Given the description of an element on the screen output the (x, y) to click on. 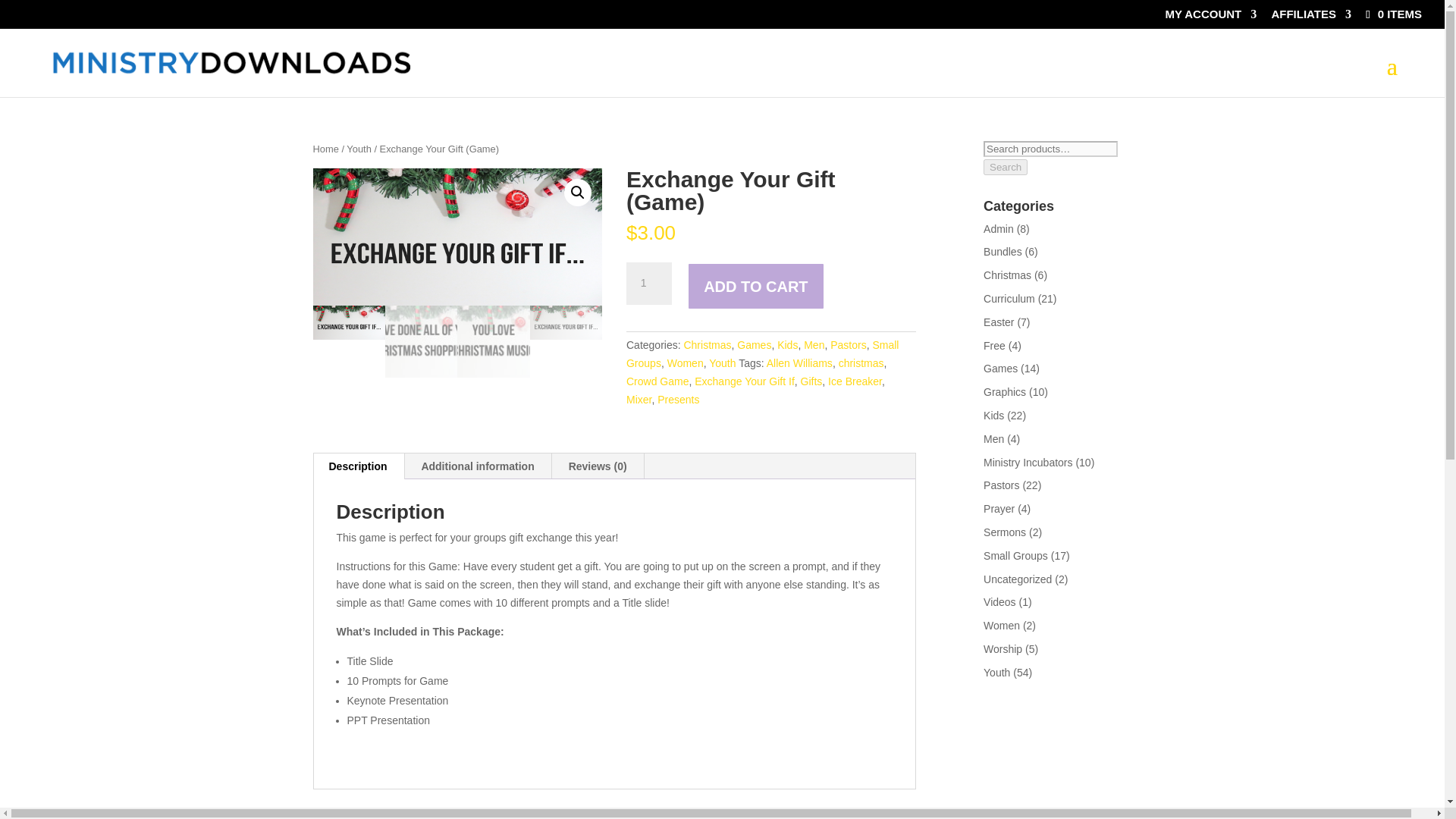
ADD TO CART (755, 286)
1 (648, 283)
Youth (358, 148)
Games (753, 345)
Allen Williams (799, 363)
christmas (860, 363)
Men (813, 345)
Youth (722, 363)
Kids (787, 345)
AFFILIATES (1311, 17)
Pastors (847, 345)
Christmas (706, 345)
0 ITEMS (1392, 13)
Women (684, 363)
Home (325, 148)
